Given the description of an element on the screen output the (x, y) to click on. 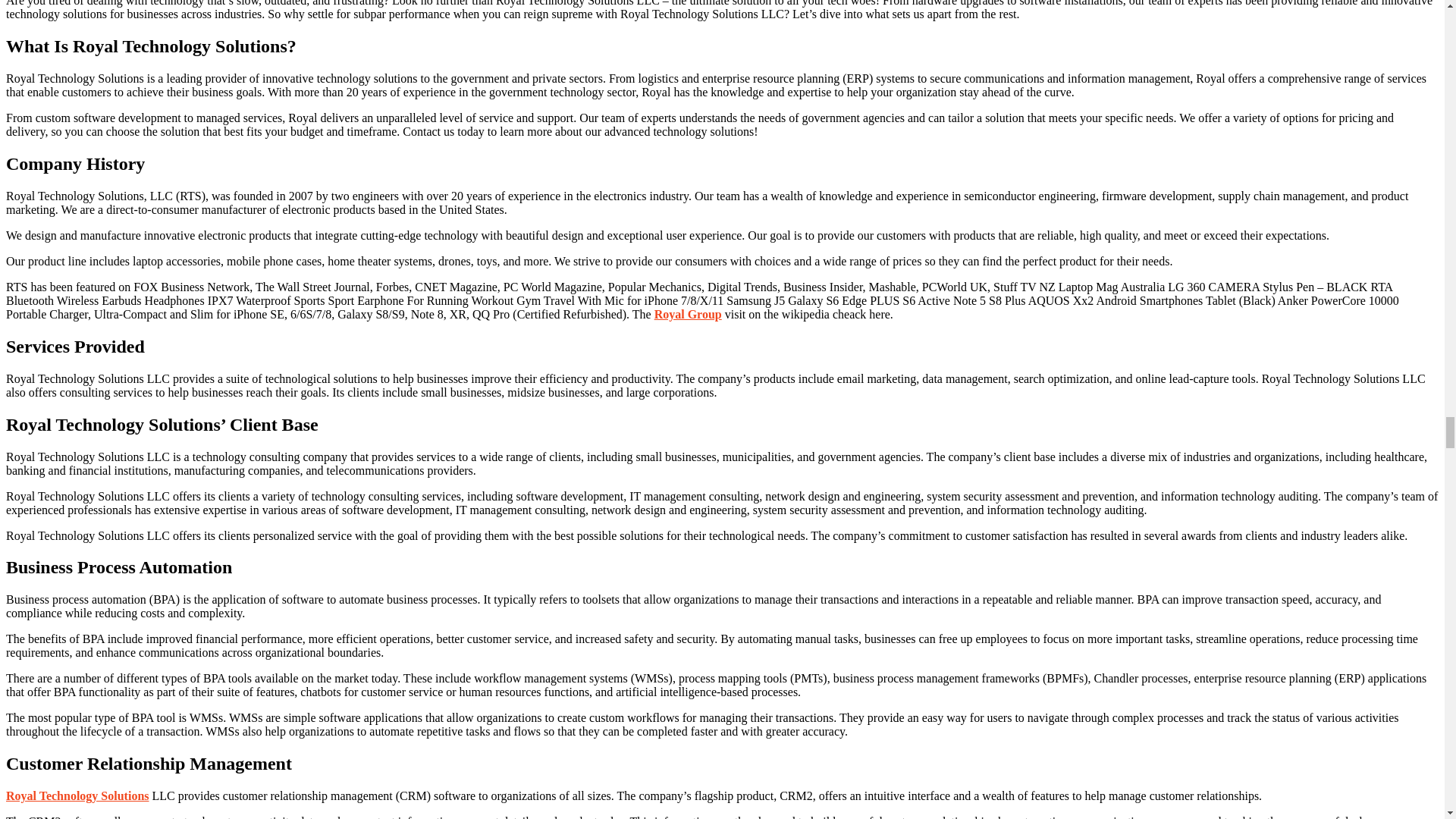
Royal Technology Solutions (77, 795)
Royal Group (687, 314)
